Given the description of an element on the screen output the (x, y) to click on. 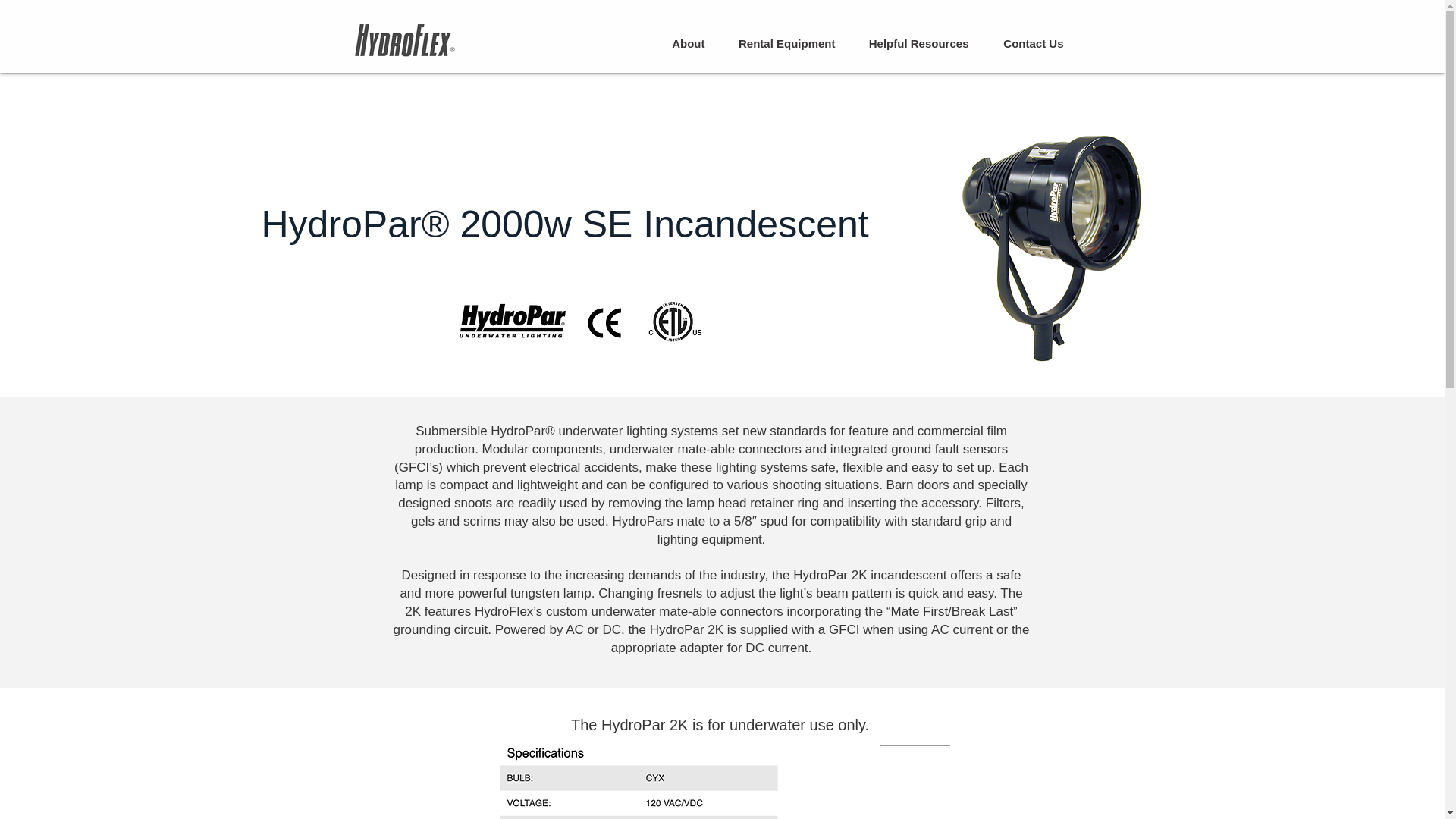
Contact Us (1023, 43)
Helpful Resources (909, 43)
Rental Equipment (778, 43)
About (679, 43)
